Given the description of an element on the screen output the (x, y) to click on. 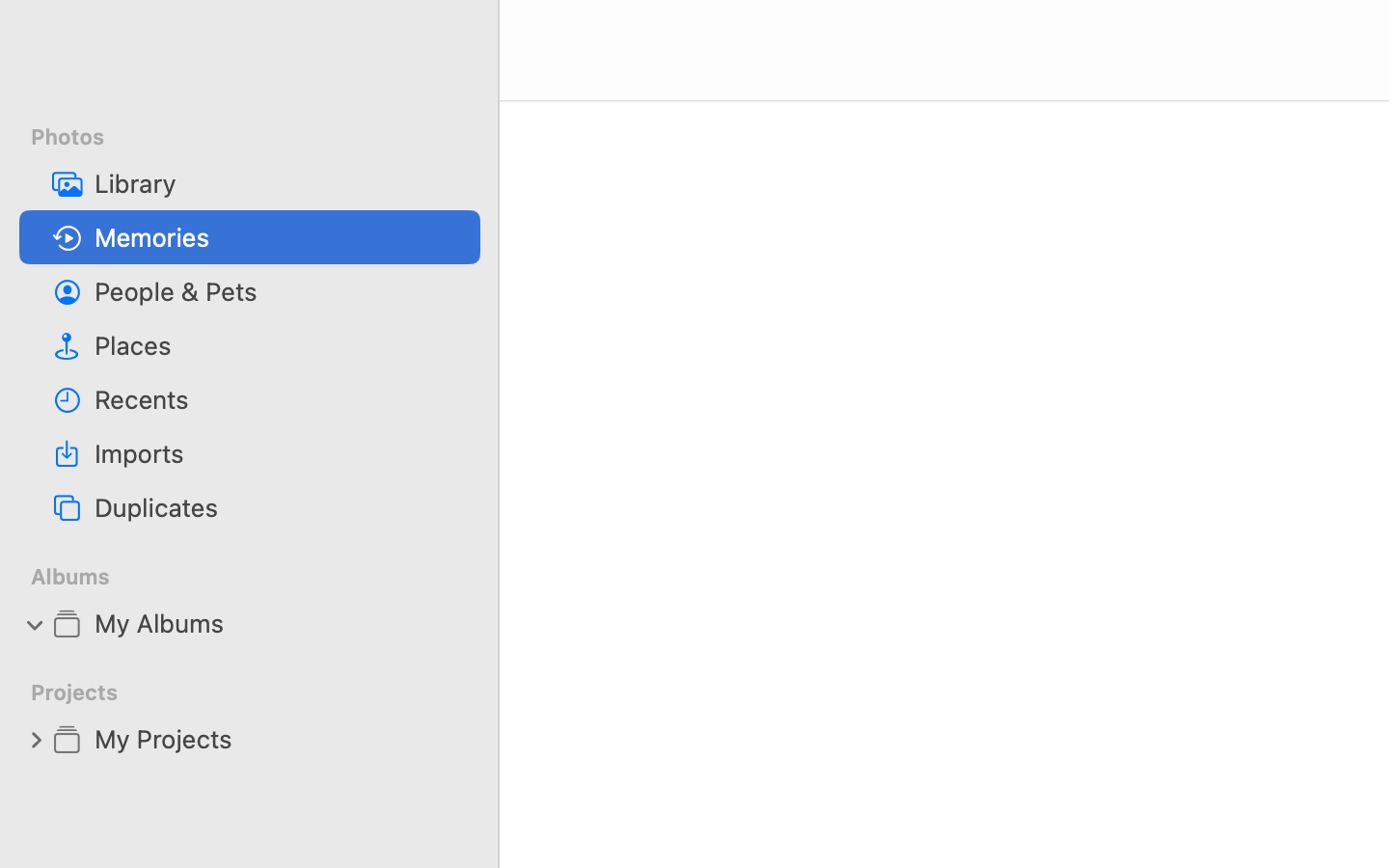
Library Element type: AXStaticText (279, 182)
Duplicates Element type: AXStaticText (279, 506)
0 Element type: AXDisclosureTriangle (35, 738)
Places Element type: AXStaticText (279, 344)
